Given the description of an element on the screen output the (x, y) to click on. 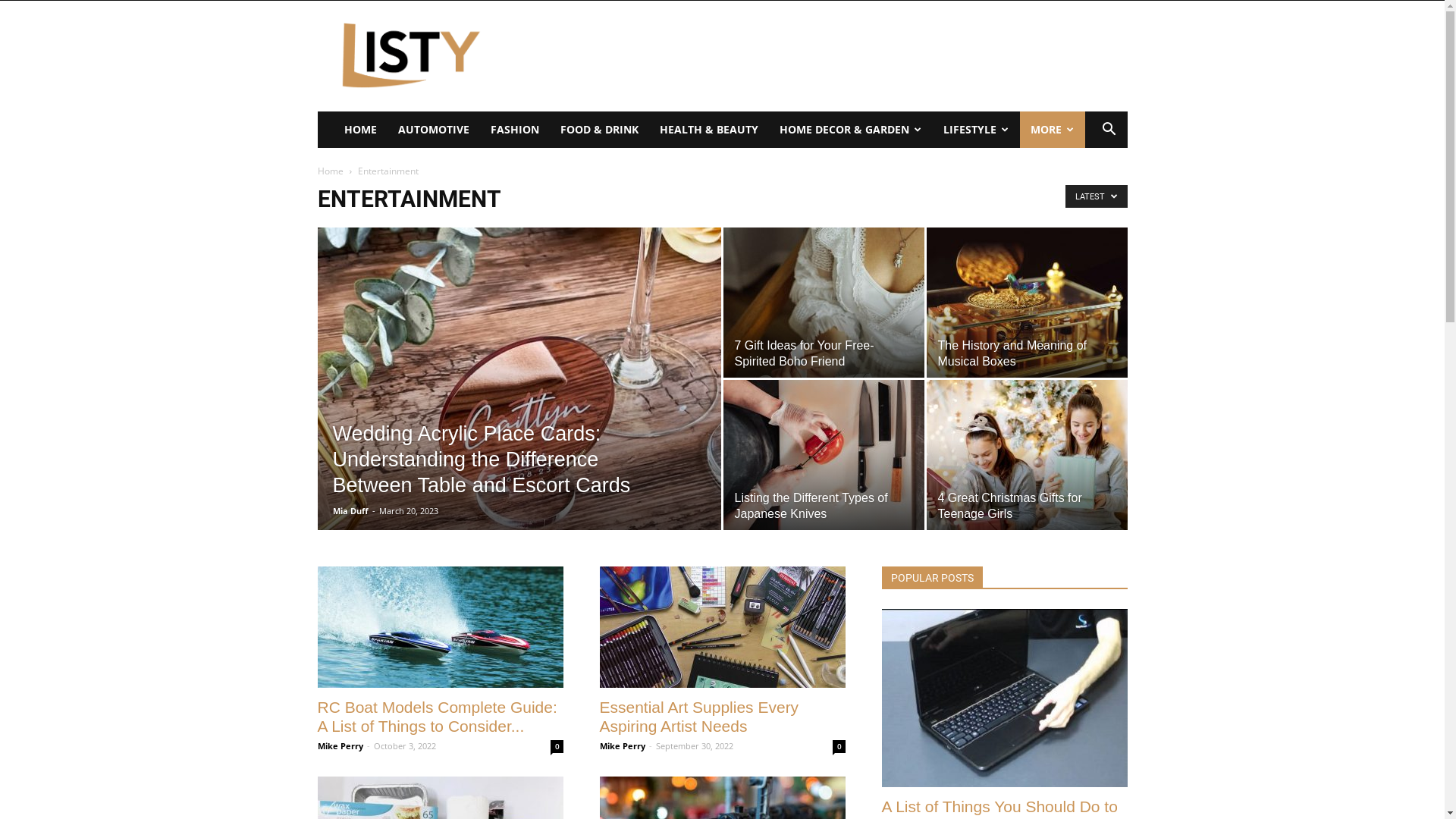
Mike Perry Element type: text (621, 745)
Listing the Different Types of Japanese Knives Element type: text (810, 505)
HEALTH & BEAUTY Element type: text (708, 129)
Essential Art Supplies Every Aspiring Artist Needs Element type: text (698, 716)
7 Gift Ideas for Your Free-Spirited Boho Friend Element type: text (803, 352)
Essential Art Supplies Every Aspiring Artist Needs Element type: hover (721, 626)
Mike Perry Element type: text (339, 745)
MORE Element type: text (1051, 129)
4 Great Christmas Gifts for Teenage Girls Element type: hover (1026, 454)
HOME DECOR & GARDEN Element type: text (850, 129)
0 Element type: text (556, 746)
Home Element type: text (329, 170)
FOOD & DRINK Element type: text (598, 129)
LIFESTYLE Element type: text (975, 129)
AUTOMOTIVE Element type: text (432, 129)
Mia Duff Element type: text (349, 510)
Listing the Different Types of Japanese Knives Element type: hover (823, 454)
Search Element type: text (1085, 190)
0 Element type: text (838, 746)
HOME Element type: text (360, 129)
The History and Meaning of Musical Boxes Element type: hover (1026, 302)
The History and Meaning of Musical Boxes Element type: text (1011, 352)
FASHION Element type: text (514, 129)
4 Great Christmas Gifts for Teenage Girls Element type: text (1009, 505)
7 Gift Ideas for Your Free-Spirited Boho Friend Element type: hover (823, 302)
